Given the description of an element on the screen output the (x, y) to click on. 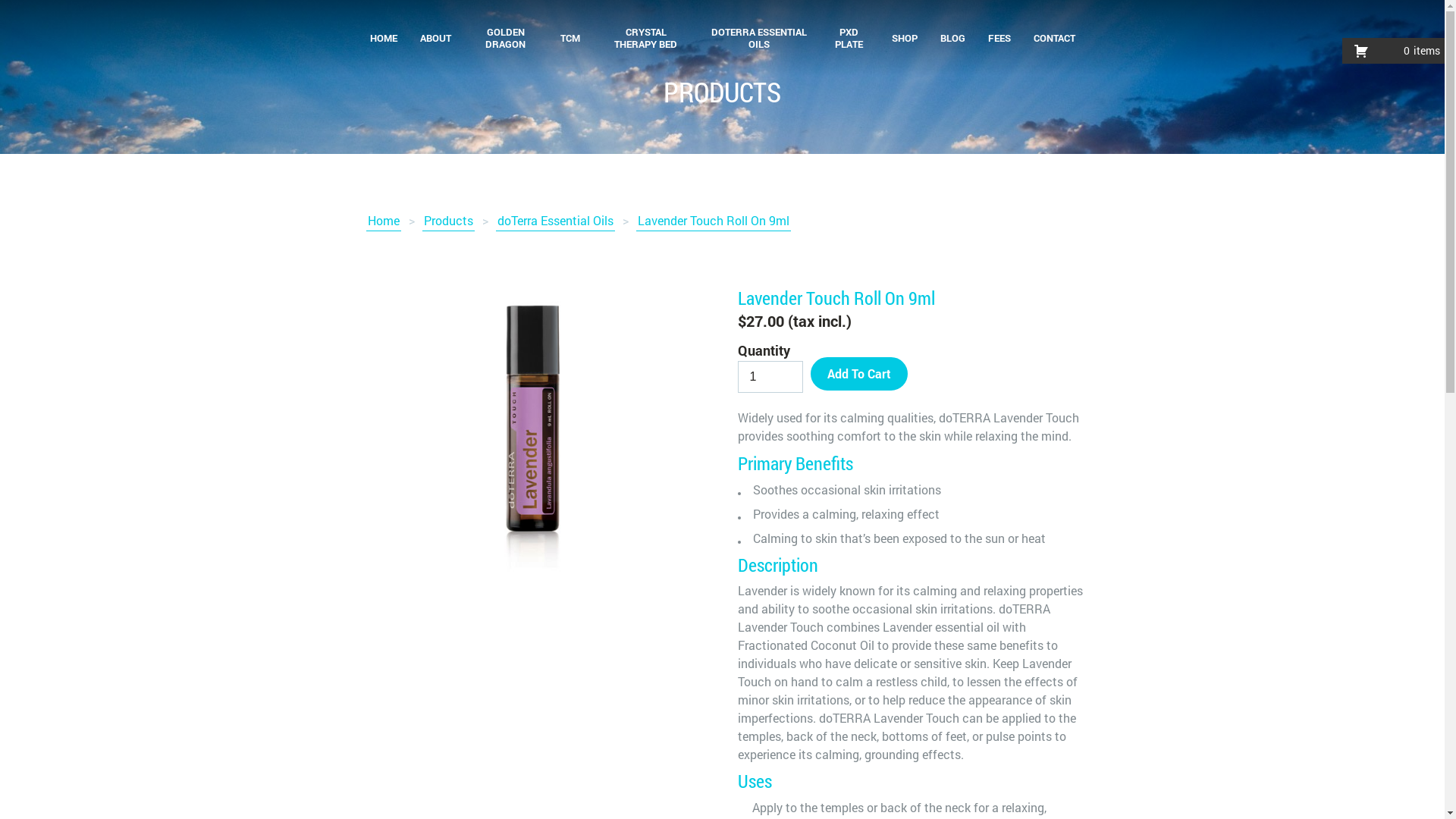
Add To Cart Element type: text (857, 373)
CRYSTAL THERAPY BED Element type: text (645, 37)
ABOUT Element type: text (434, 37)
GOLDEN DRAGON Element type: text (506, 37)
TCM Element type: text (569, 37)
SHOP Element type: text (903, 37)
Lavender Touch Roll On 9ml Element type: text (712, 220)
doTerra Essential Oils Element type: text (555, 220)
Home Element type: text (382, 220)
FEES Element type: text (999, 37)
CONTACT Element type: text (1054, 37)
HOME Element type: text (382, 37)
DOTERRA ESSENTIAL OILS Element type: text (758, 37)
Products Element type: text (447, 220)
PXD PLATE Element type: text (848, 37)
BLOG Element type: text (951, 37)
